Given the description of an element on the screen output the (x, y) to click on. 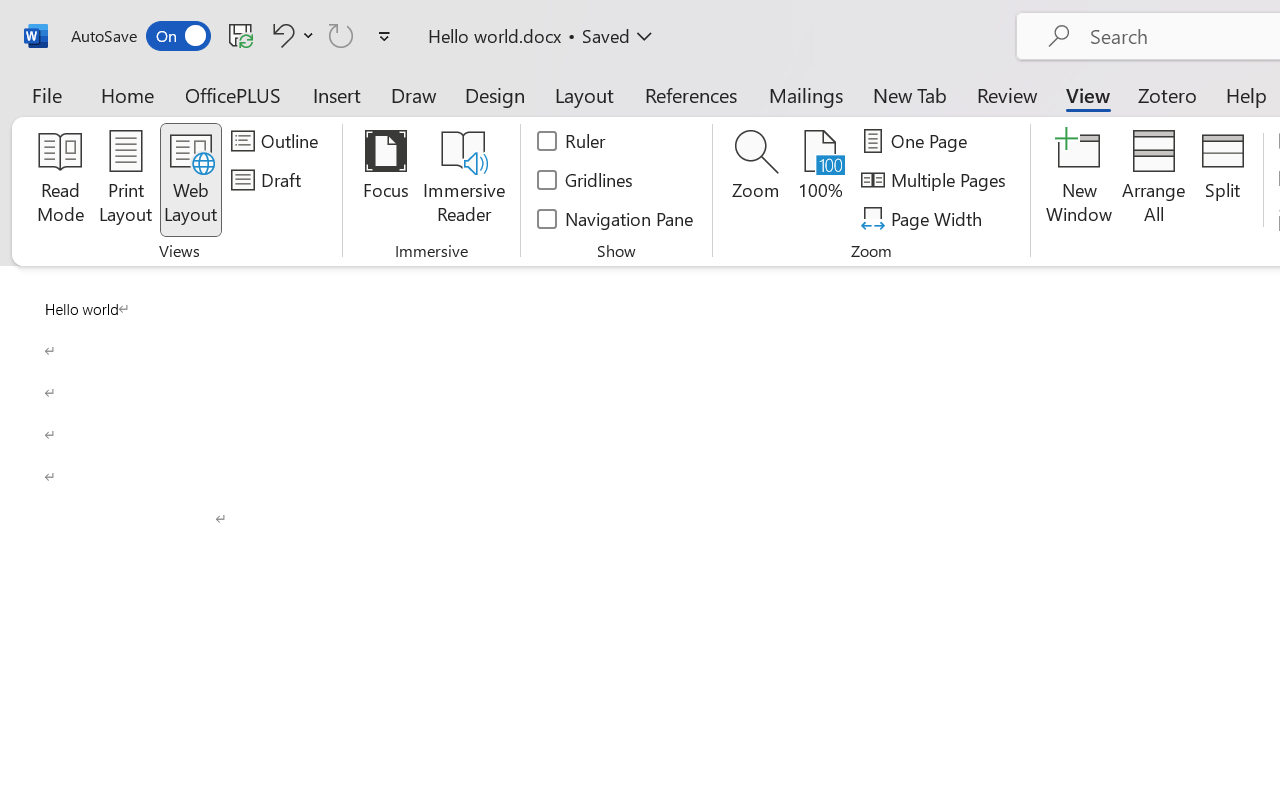
Multiple Pages (936, 179)
Layout (584, 94)
AutoSave (140, 35)
Save (241, 35)
More Options (308, 35)
Design (495, 94)
Undo Paragraph Formatting (290, 35)
Can't Repeat (341, 35)
Web Layout (190, 179)
Customize Quick Access Toolbar (384, 35)
New Window (1079, 179)
Gridlines (586, 179)
Insert (337, 94)
100% (820, 179)
